Given the description of an element on the screen output the (x, y) to click on. 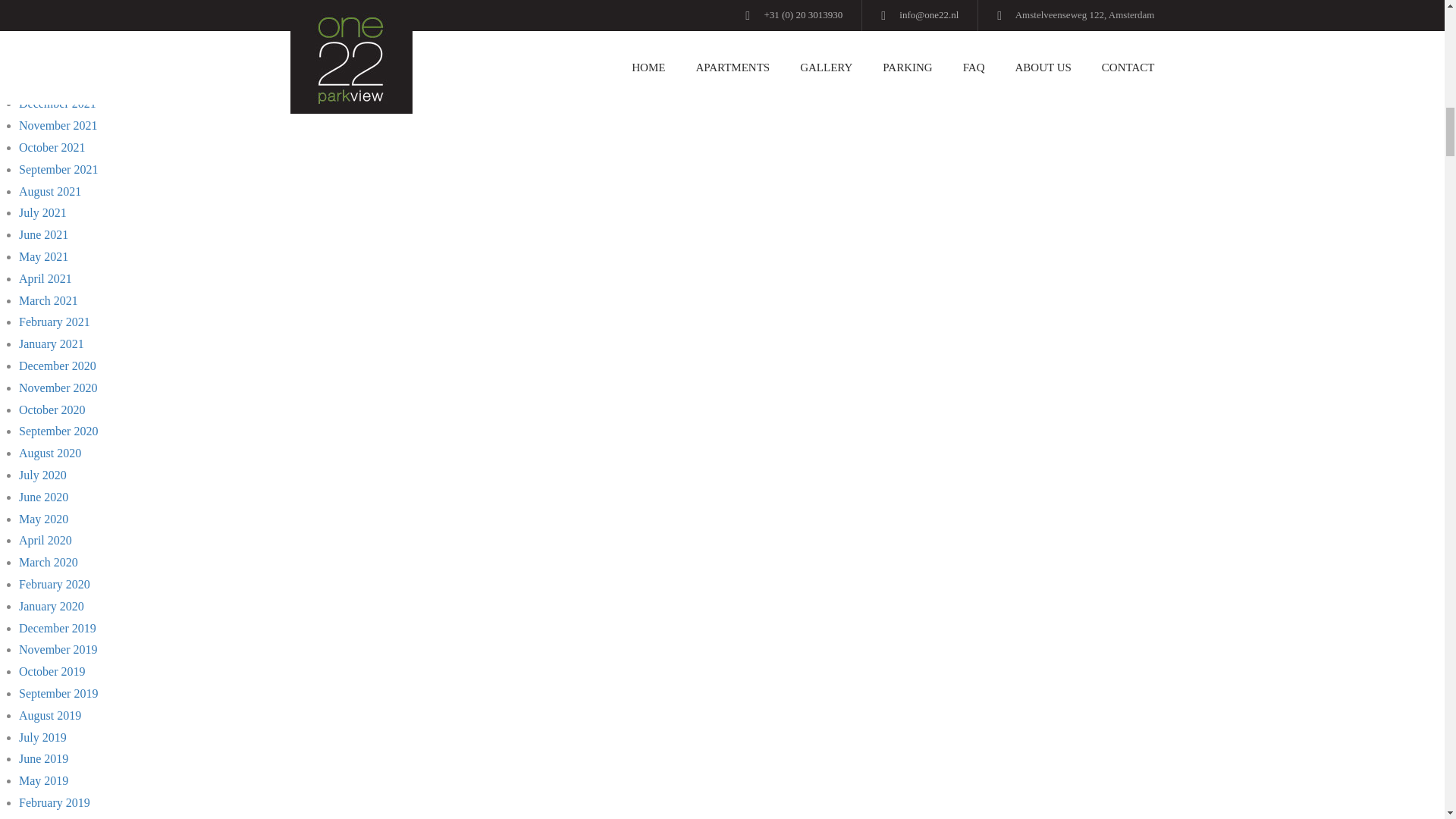
March 2021 (48, 300)
February 2022 (54, 60)
July 2021 (42, 212)
January 2022 (51, 82)
April 2022 (44, 15)
March 2022 (48, 38)
April 2021 (44, 278)
May 2021 (43, 256)
May 2022 (43, 0)
September 2021 (57, 169)
November 2021 (57, 124)
August 2021 (49, 191)
October 2021 (51, 146)
June 2021 (43, 234)
December 2021 (57, 103)
